Given the description of an element on the screen output the (x, y) to click on. 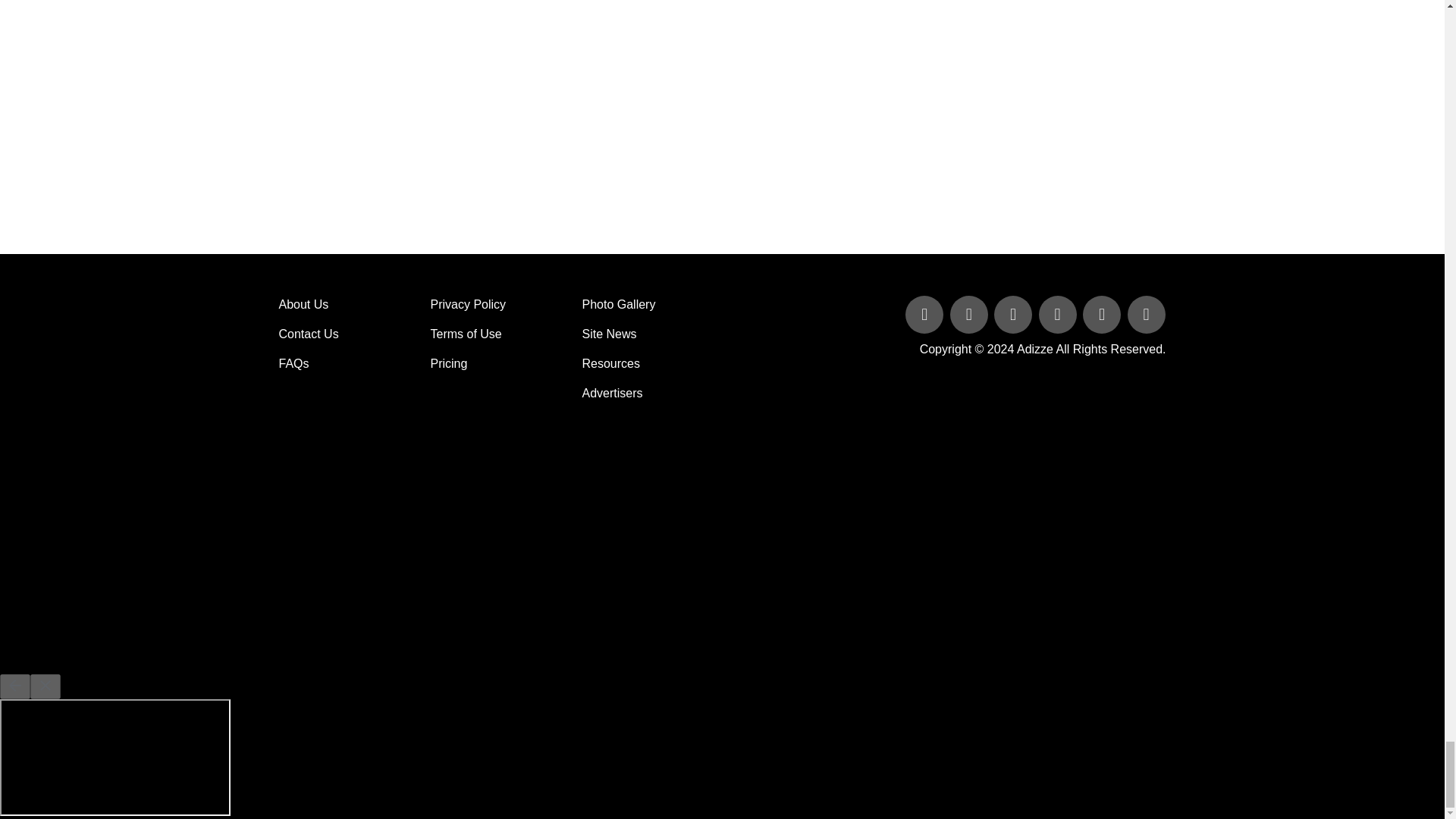
Follow Us on You Tube (1058, 315)
Follow Us on Instagram (1145, 315)
Follow Us on Pinterest (1103, 315)
Follow Us on Linked In (1014, 315)
Follow Us on Facebook (925, 315)
Follow Us on Twitter (970, 315)
